Given the description of an element on the screen output the (x, y) to click on. 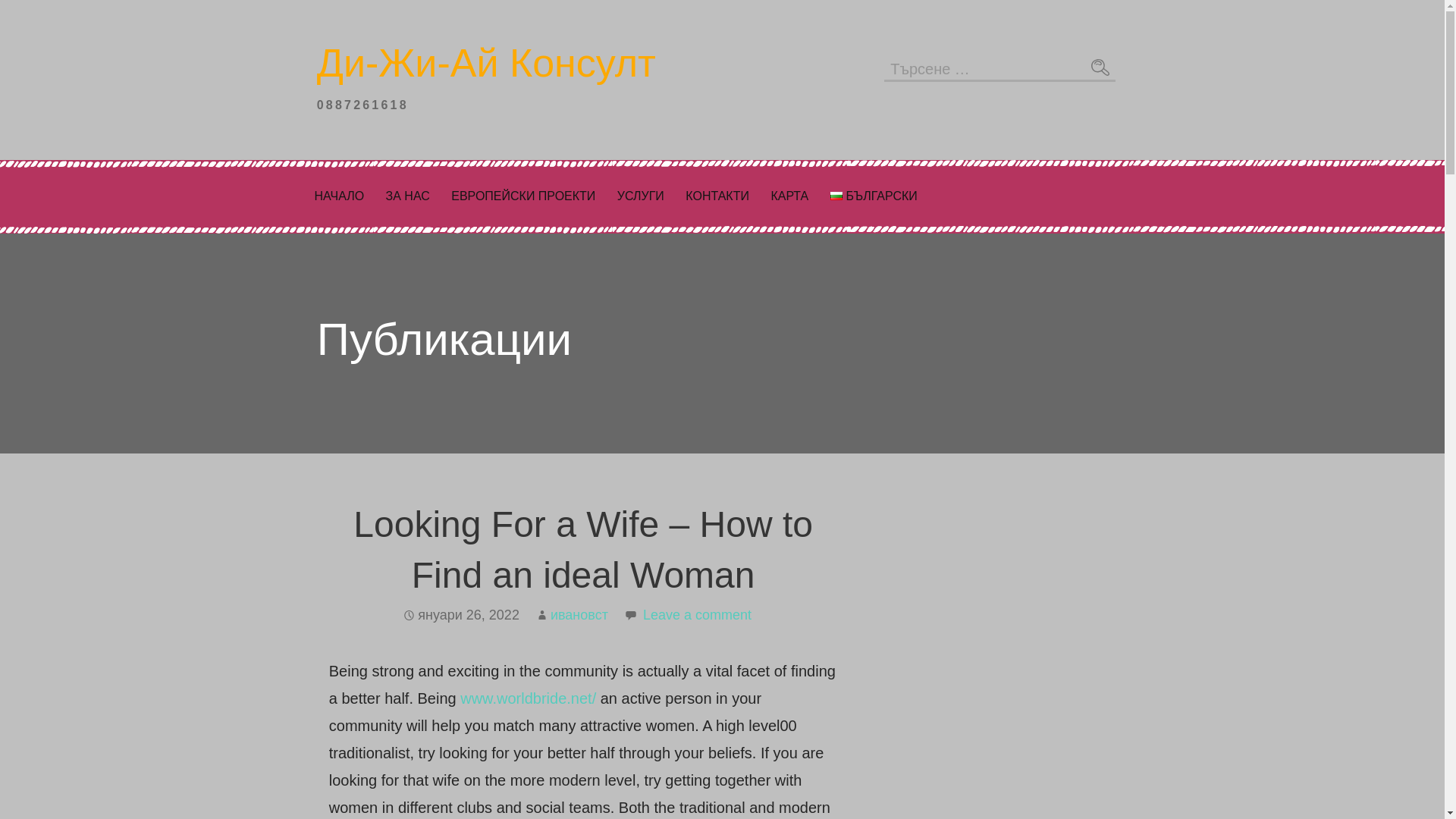
Leave a comment (697, 614)
